Given the description of an element on the screen output the (x, y) to click on. 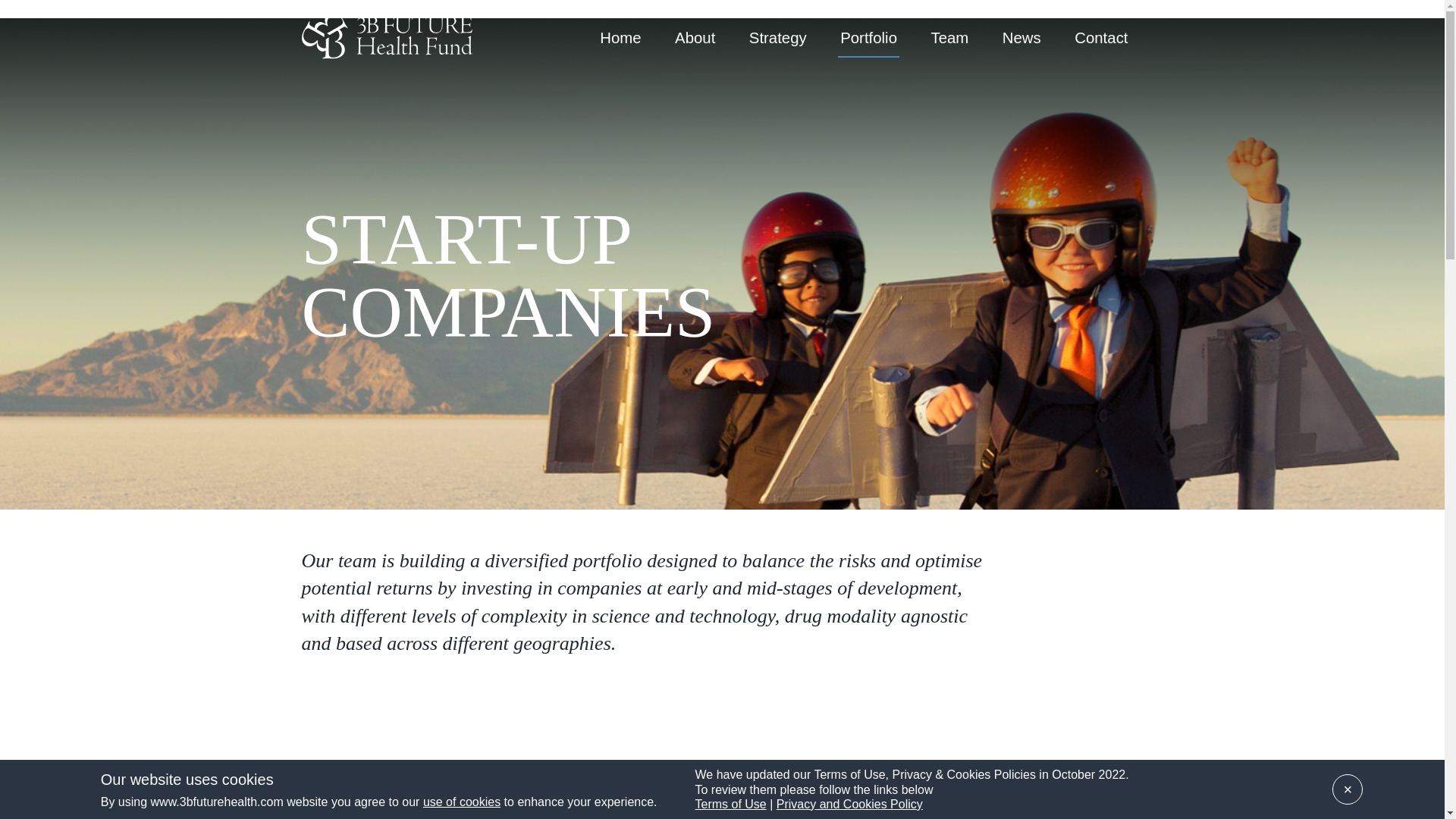
Contact (1100, 31)
About (694, 31)
Team (949, 31)
Home (620, 31)
Portfolio (868, 31)
Strategy (777, 31)
Privacy and Cookies Policy (849, 803)
Terms of Use (731, 803)
News (1022, 31)
use of cookies (461, 801)
